Given the description of an element on the screen output the (x, y) to click on. 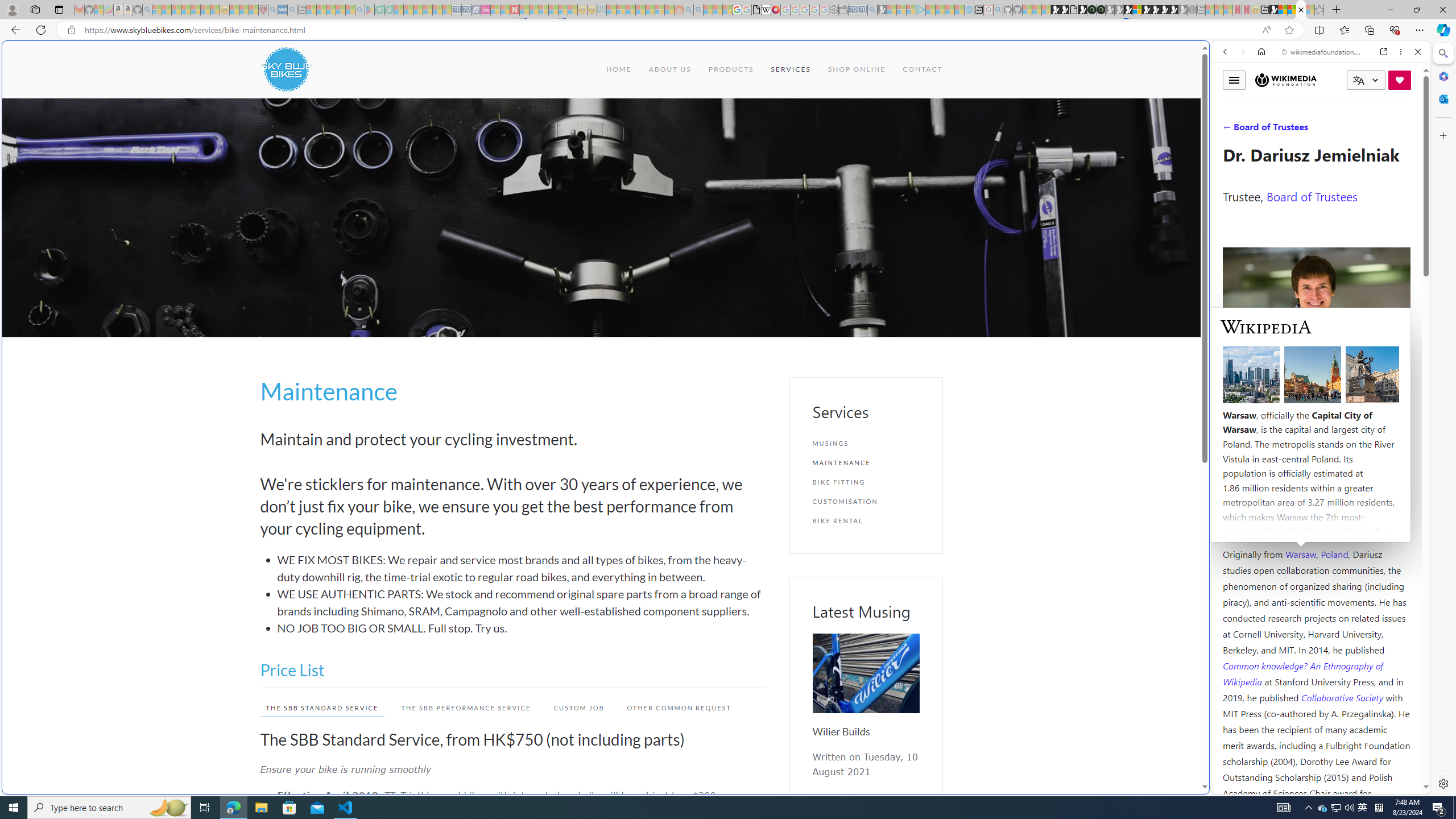
CUSTOM JOB (572, 707)
BIKE FITTING (865, 481)
THE SBB STANDARD SERVICE (316, 707)
The Weather Channel - MSN - Sleeping (175, 9)
Frequently visited (965, 151)
Trusted Community Engagement and Contributions | Guidelines (524, 9)
MUSINGS (865, 443)
Board of Trustees (1311, 195)
